Given the description of an element on the screen output the (x, y) to click on. 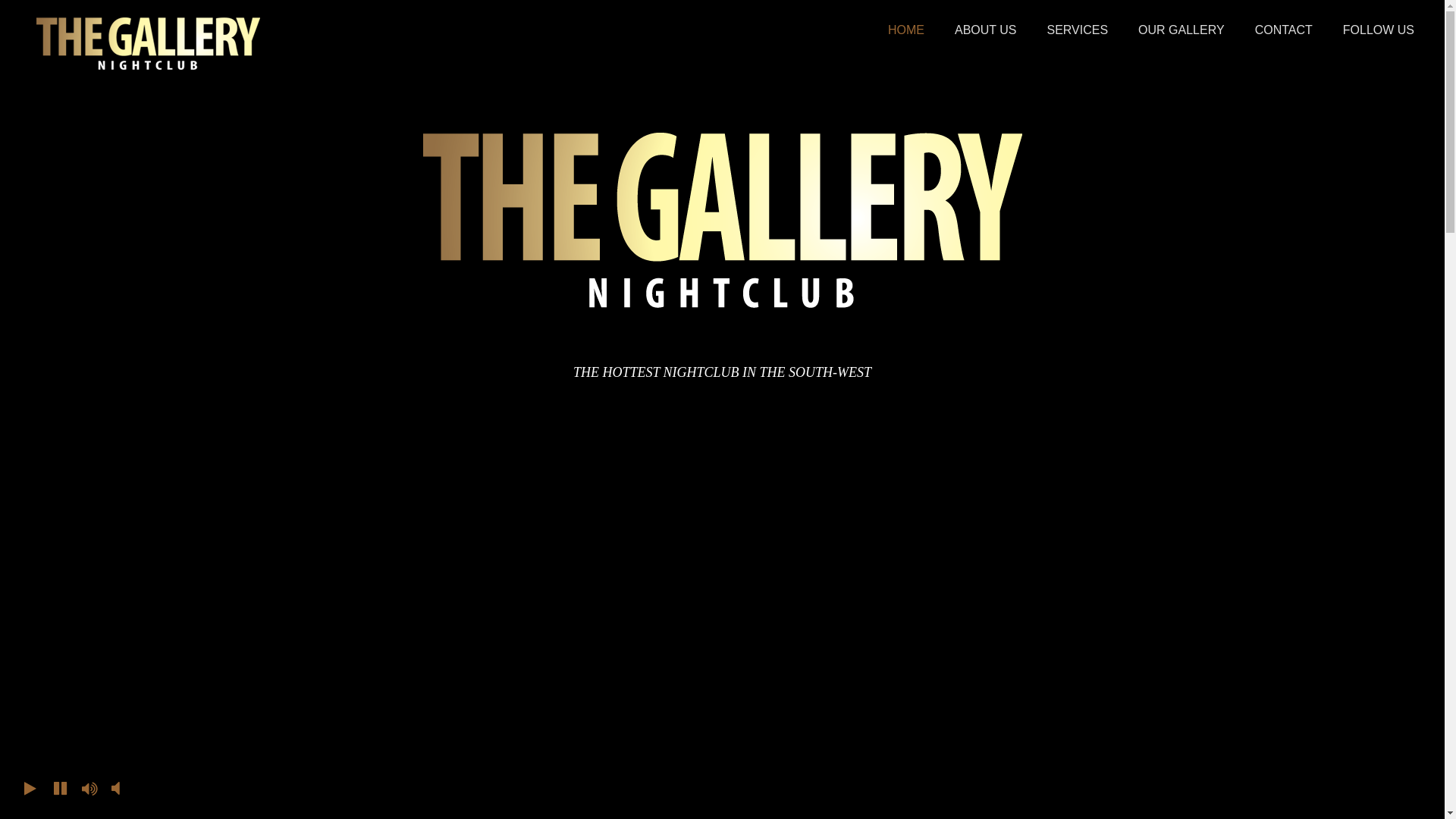
OUR GALLERY Element type: text (1181, 30)
HOME Element type: text (905, 30)
CONTACT Element type: text (1283, 30)
SERVICES Element type: text (1077, 30)
ABOUT US Element type: text (985, 30)
FOLLOW US Element type: text (1378, 30)
